Given the description of an element on the screen output the (x, y) to click on. 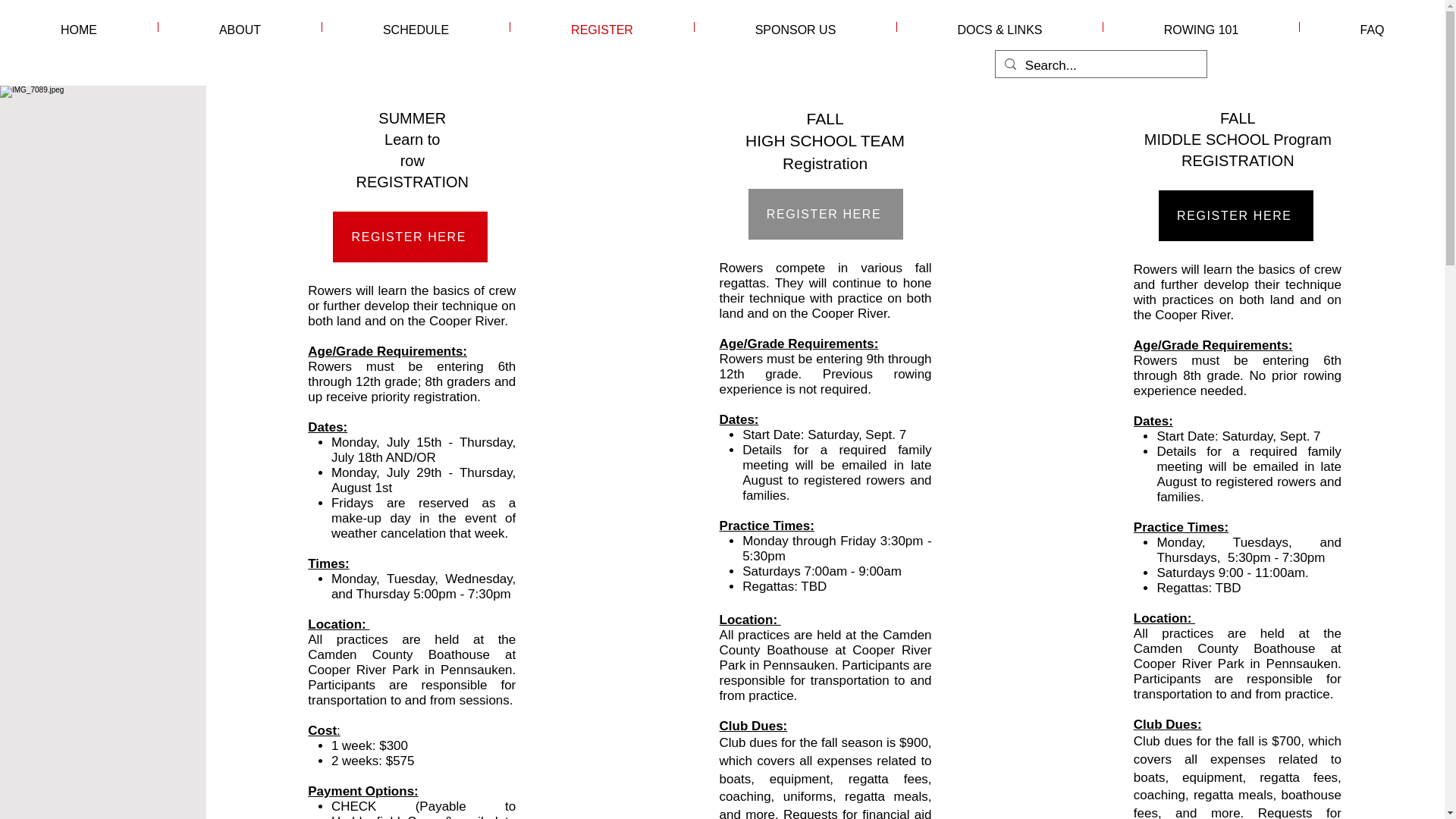
ROWING 101 (1200, 26)
HOME (78, 26)
SCHEDULE (415, 26)
REGISTER HERE (825, 214)
REGISTER (602, 26)
REGISTER HERE (410, 236)
REGISTER HERE (1235, 215)
ABOUT (239, 26)
SPONSOR US (795, 26)
